Given the description of an element on the screen output the (x, y) to click on. 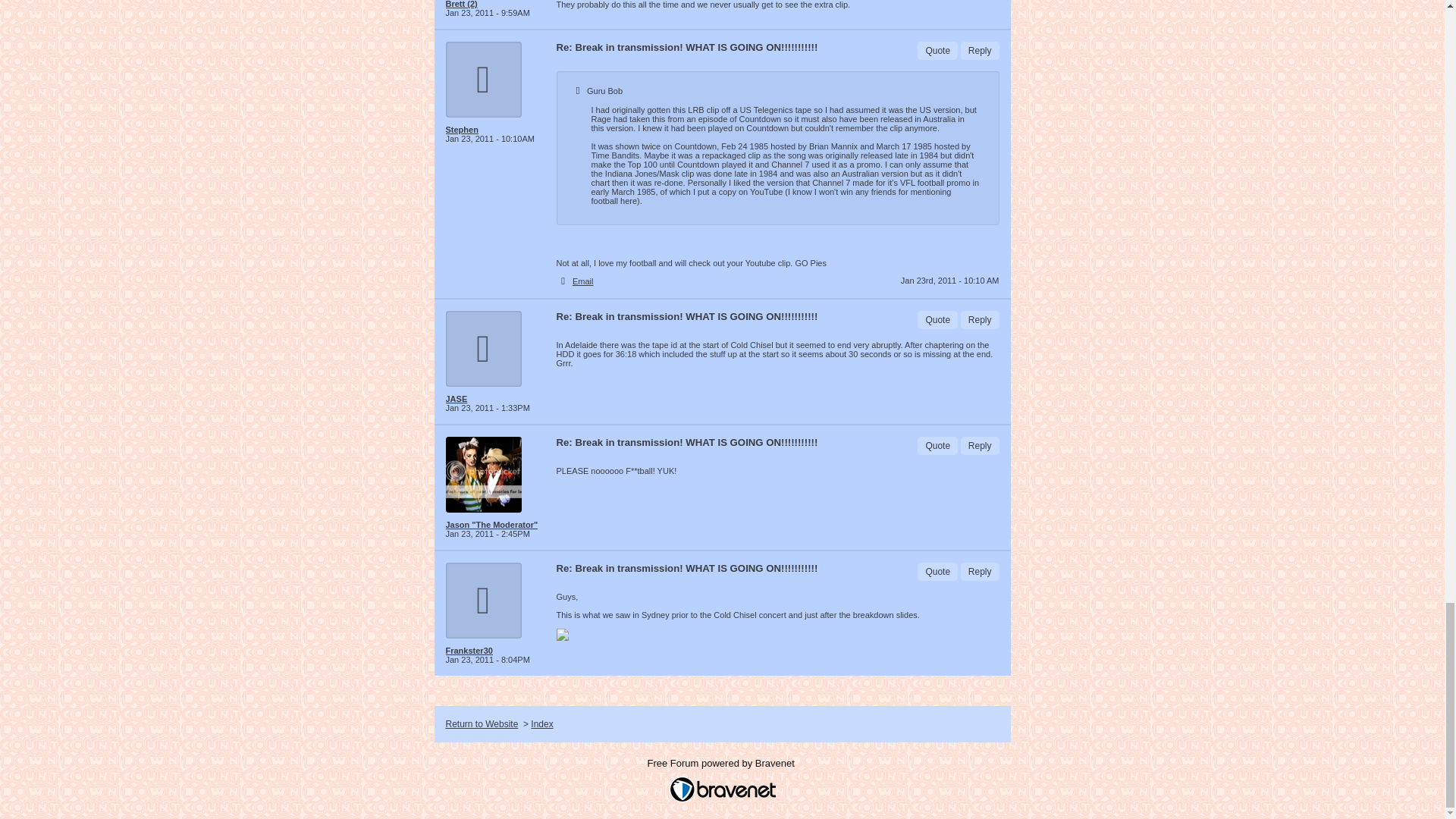
Messages from this User (469, 650)
Messages from this User (462, 129)
Messages from this User (491, 524)
Messages from this User (456, 398)
Messages from this User (461, 4)
